Given the description of an element on the screen output the (x, y) to click on. 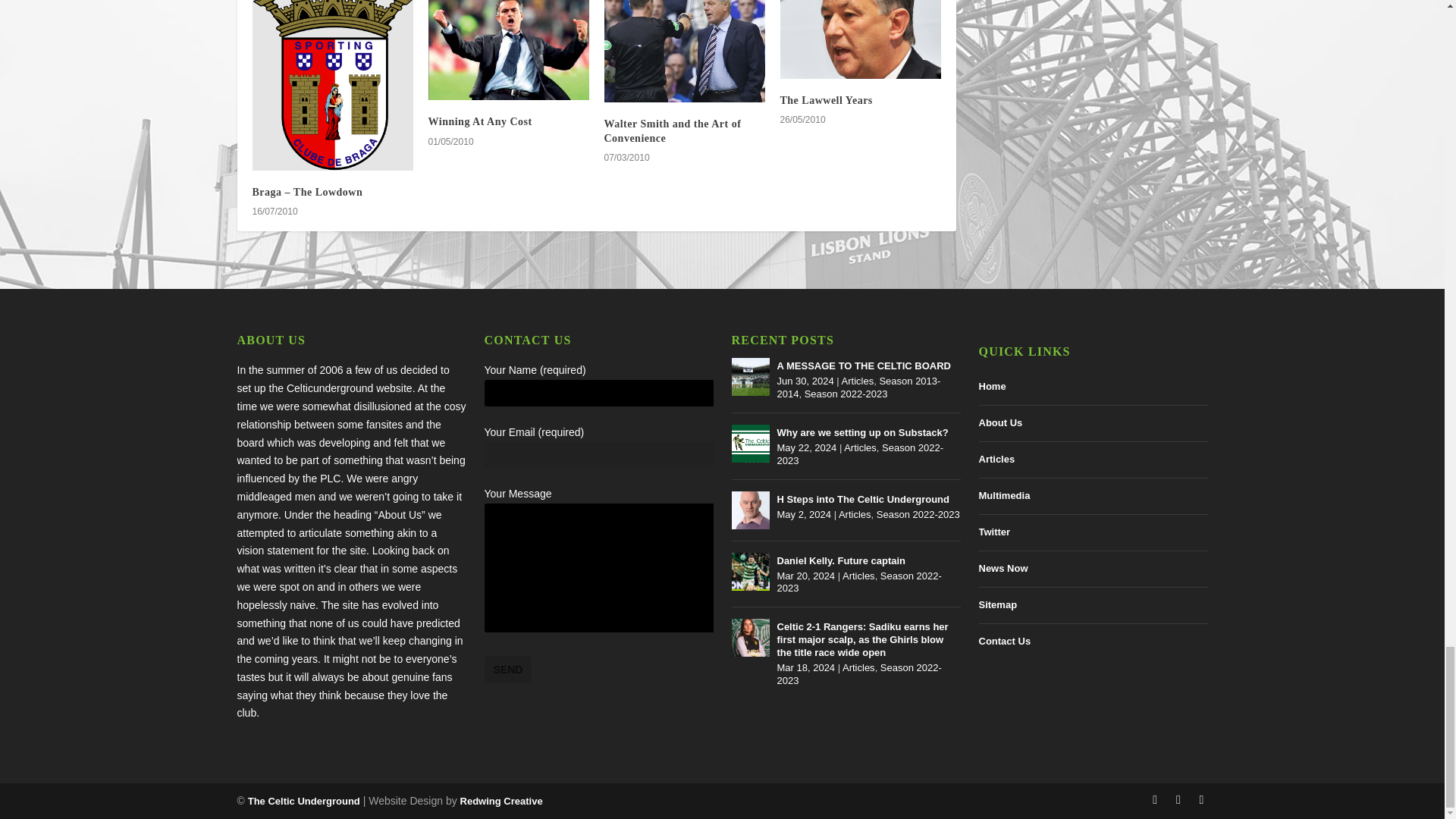
Send (507, 669)
